Given the description of an element on the screen output the (x, y) to click on. 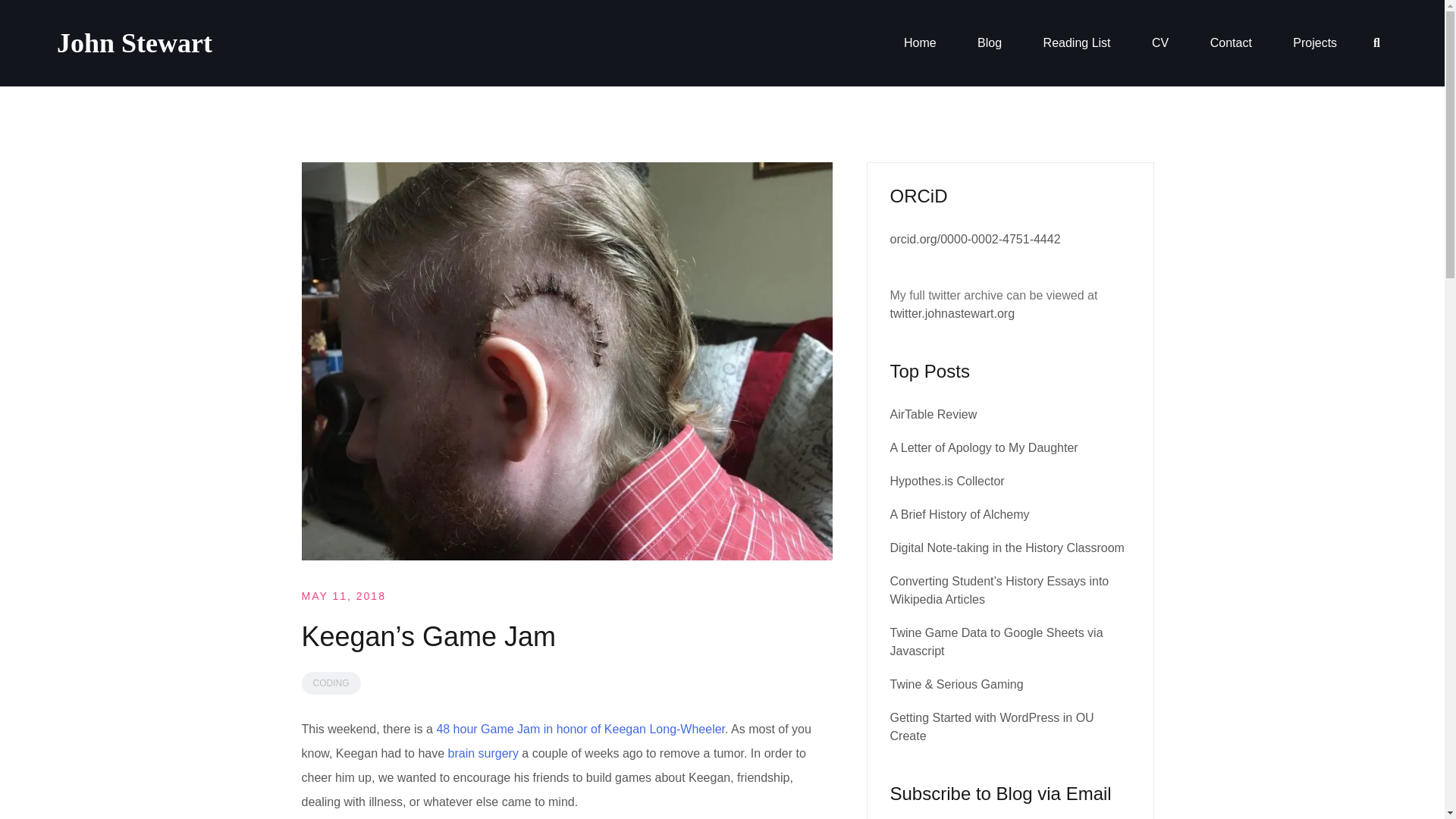
Reading List (1076, 43)
Home (920, 43)
Blog (988, 43)
Projects (1314, 43)
brain surgery (483, 753)
MAY 11, 2018 (343, 595)
48 hour Game Jam in honor of Keegan Long-Wheeler (580, 728)
CV (1160, 43)
CODING (331, 682)
twitter.johnastewart.org (951, 313)
AirTable Review (932, 413)
A Letter of Apology to My Daughter (983, 447)
John Stewart (134, 42)
Contact (1230, 43)
